Given the description of an element on the screen output the (x, y) to click on. 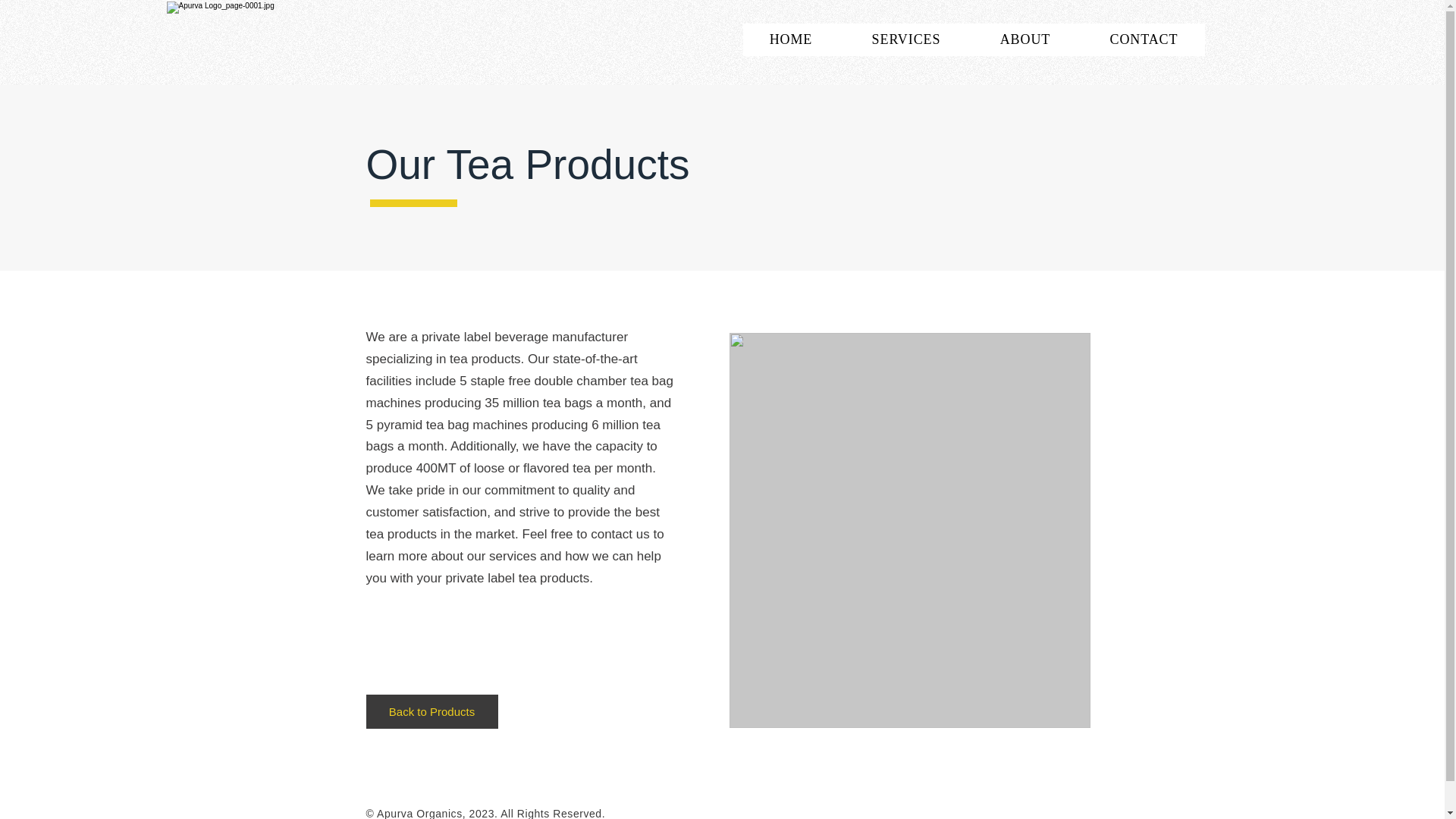
CONTACT (1143, 39)
ABOUT (1025, 39)
HOME (791, 39)
SERVICES (905, 39)
Back to Products (431, 711)
